Given the description of an element on the screen output the (x, y) to click on. 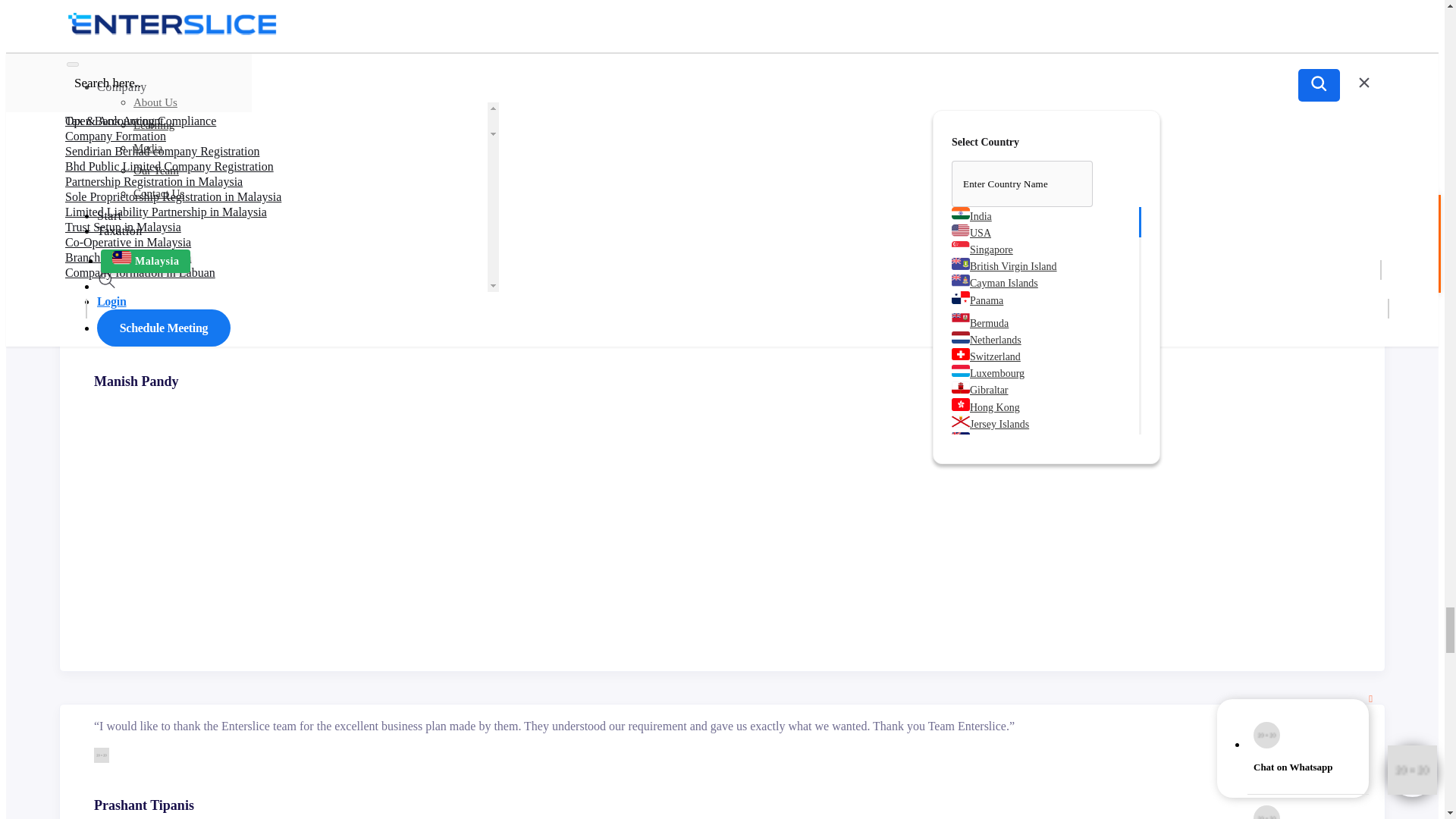
Prashant Tipanis (101, 754)
Manish Pandy (101, 331)
